Given the description of an element on the screen output the (x, y) to click on. 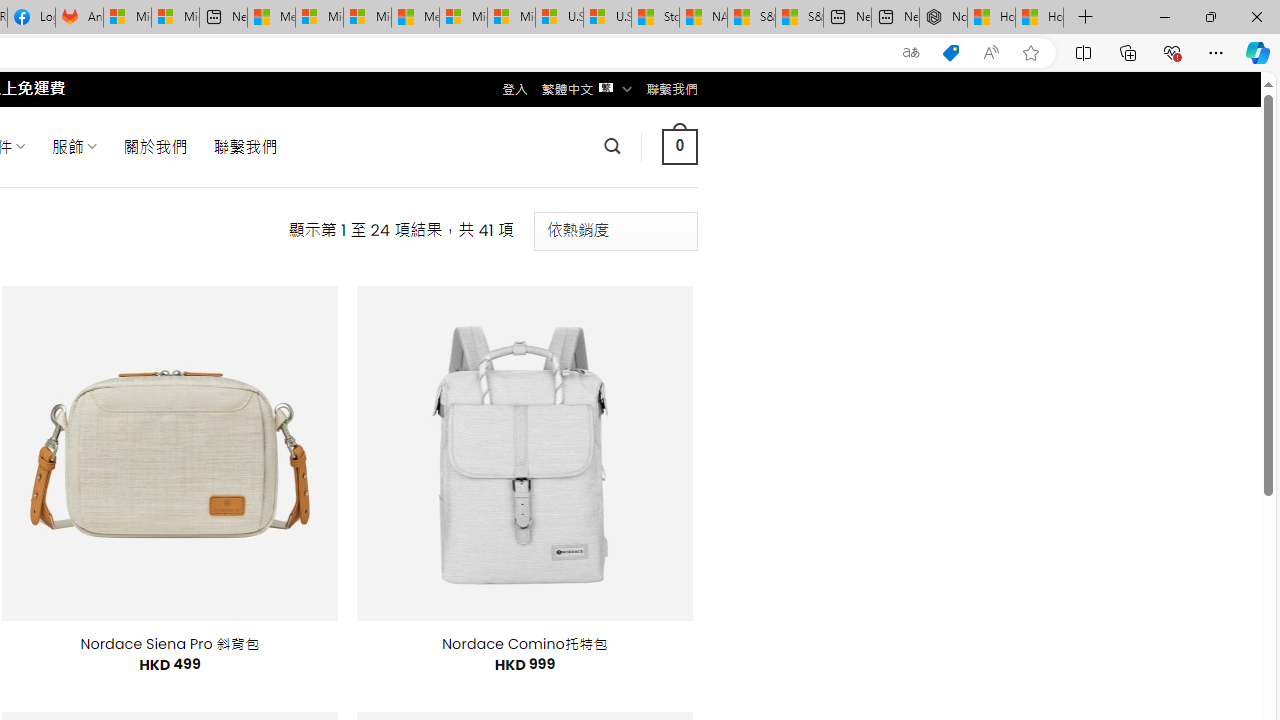
Show translate options (910, 53)
